Given the description of an element on the screen output the (x, y) to click on. 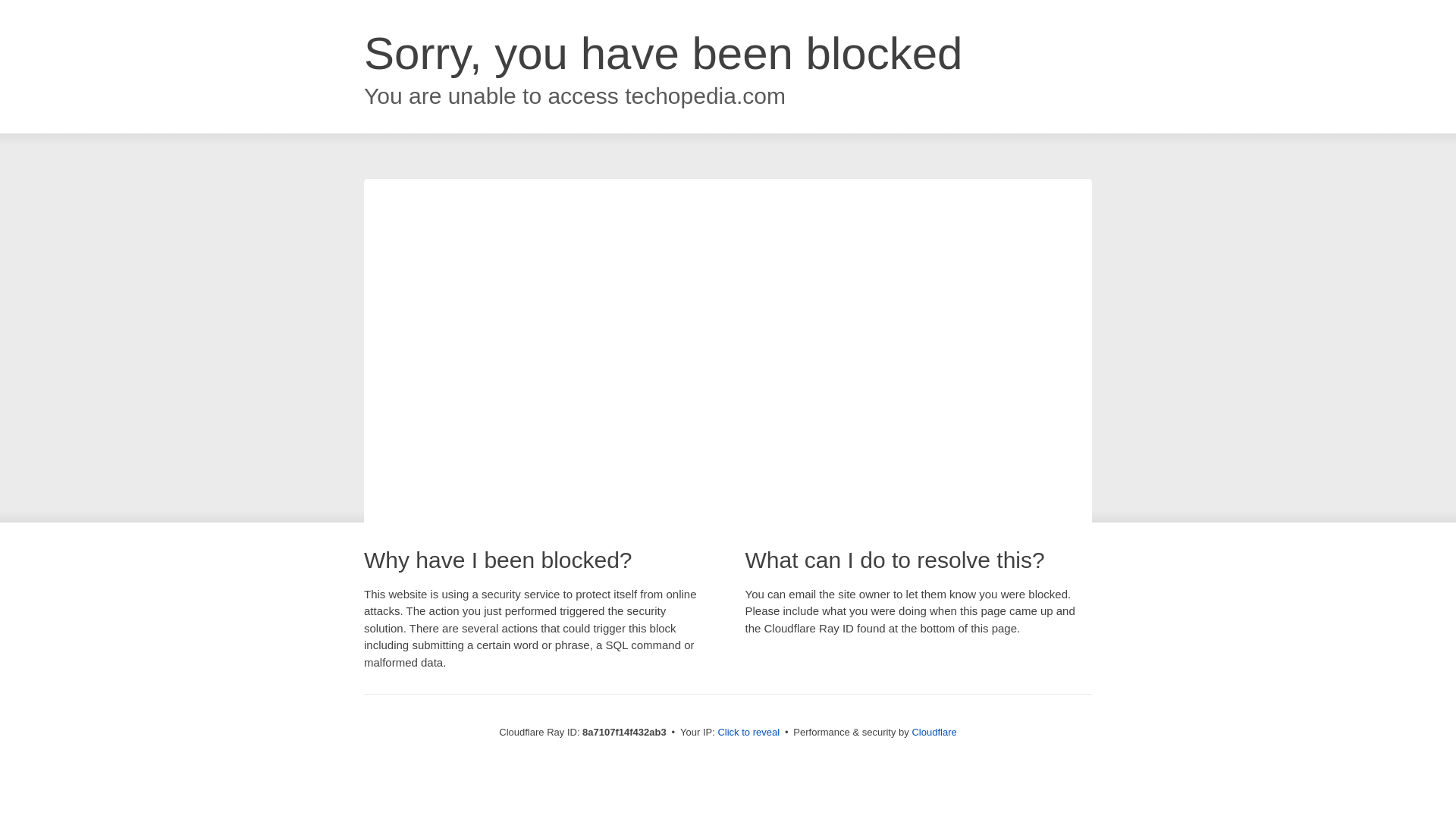
Click to reveal (747, 732)
Cloudflare (933, 731)
